Given the description of an element on the screen output the (x, y) to click on. 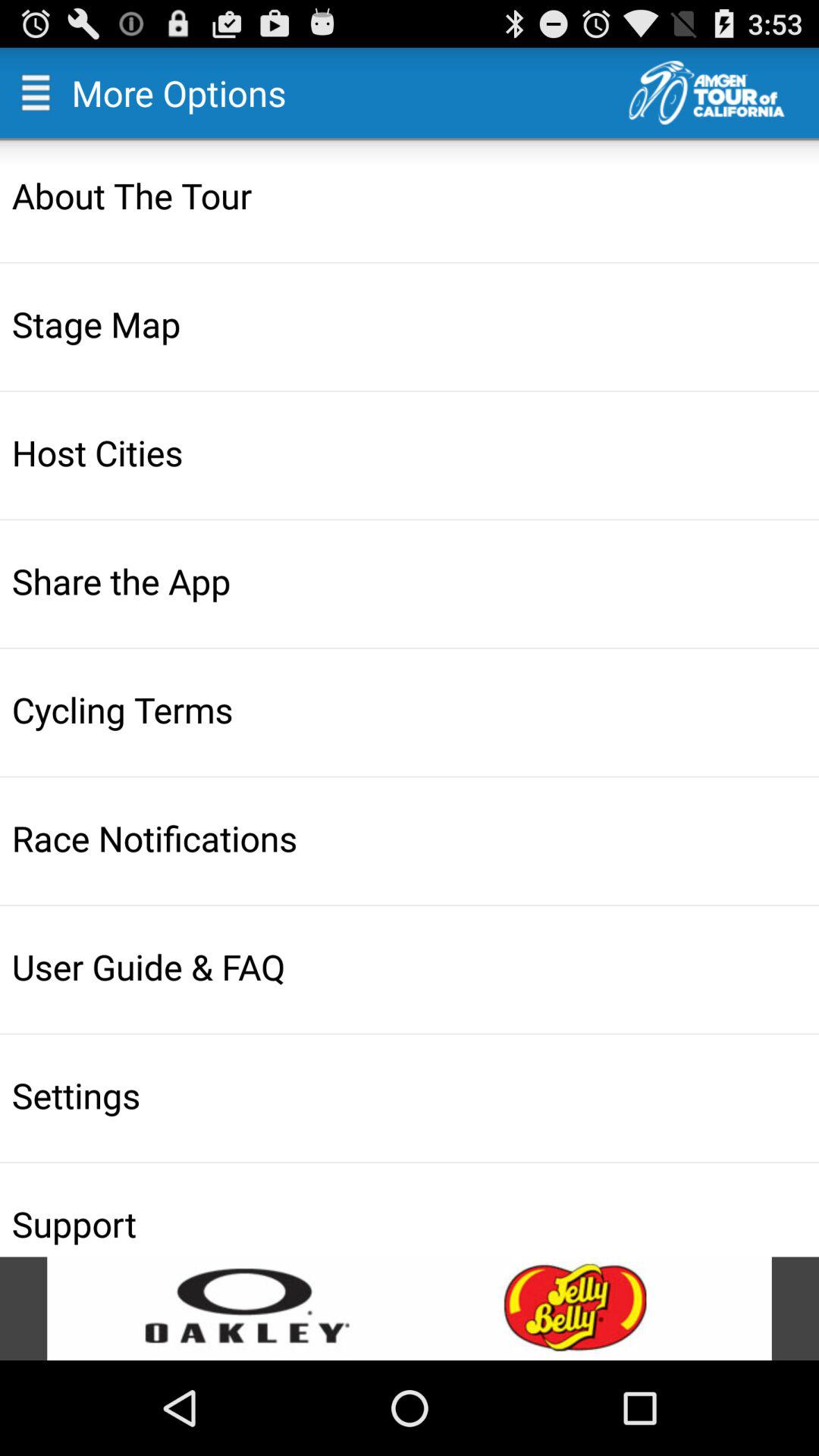
swipe until host cities icon (411, 452)
